Given the description of an element on the screen output the (x, y) to click on. 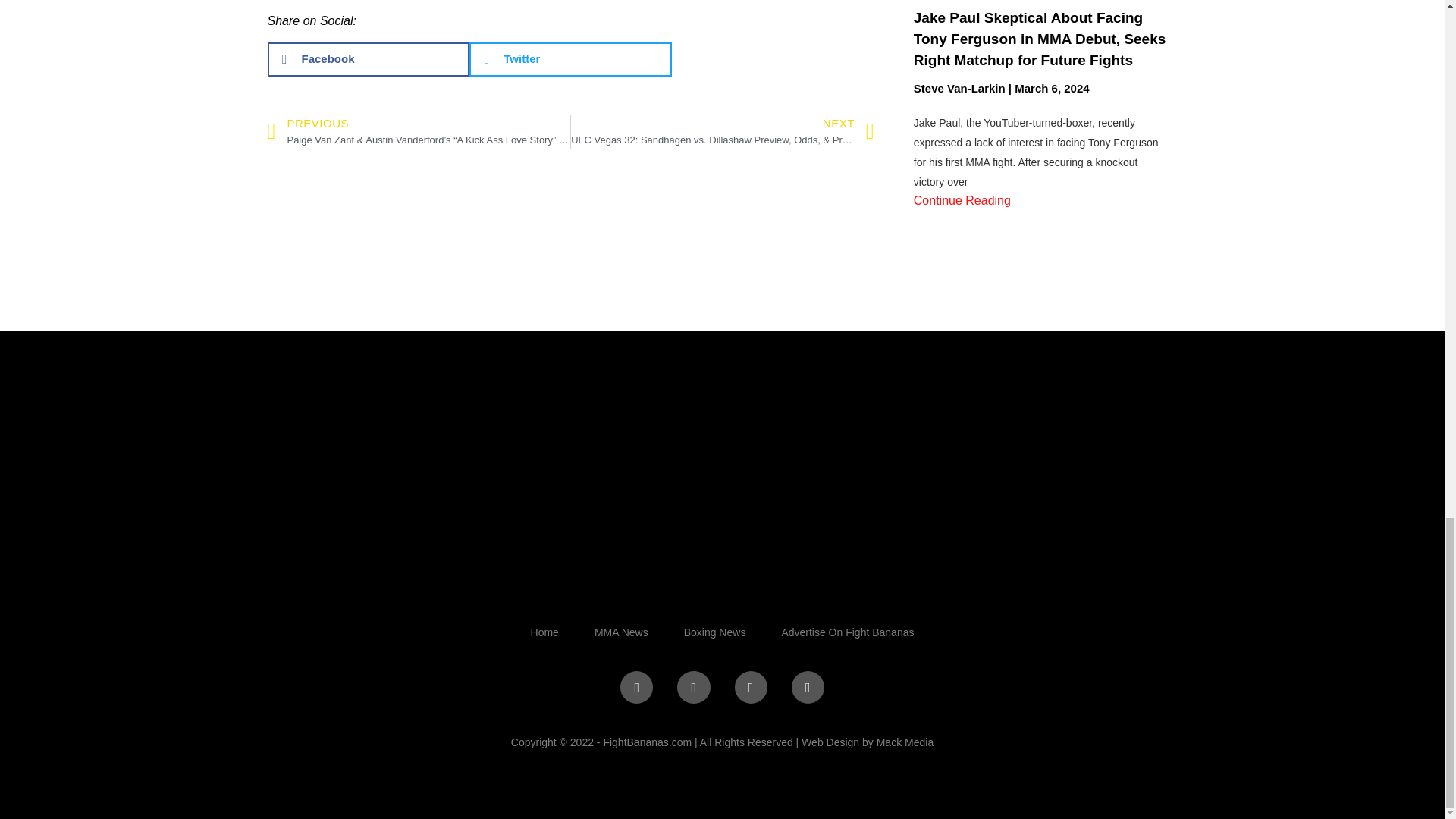
Boxing News (714, 632)
Home (545, 632)
MMA News (620, 632)
Continue Reading (962, 200)
